Given the description of an element on the screen output the (x, y) to click on. 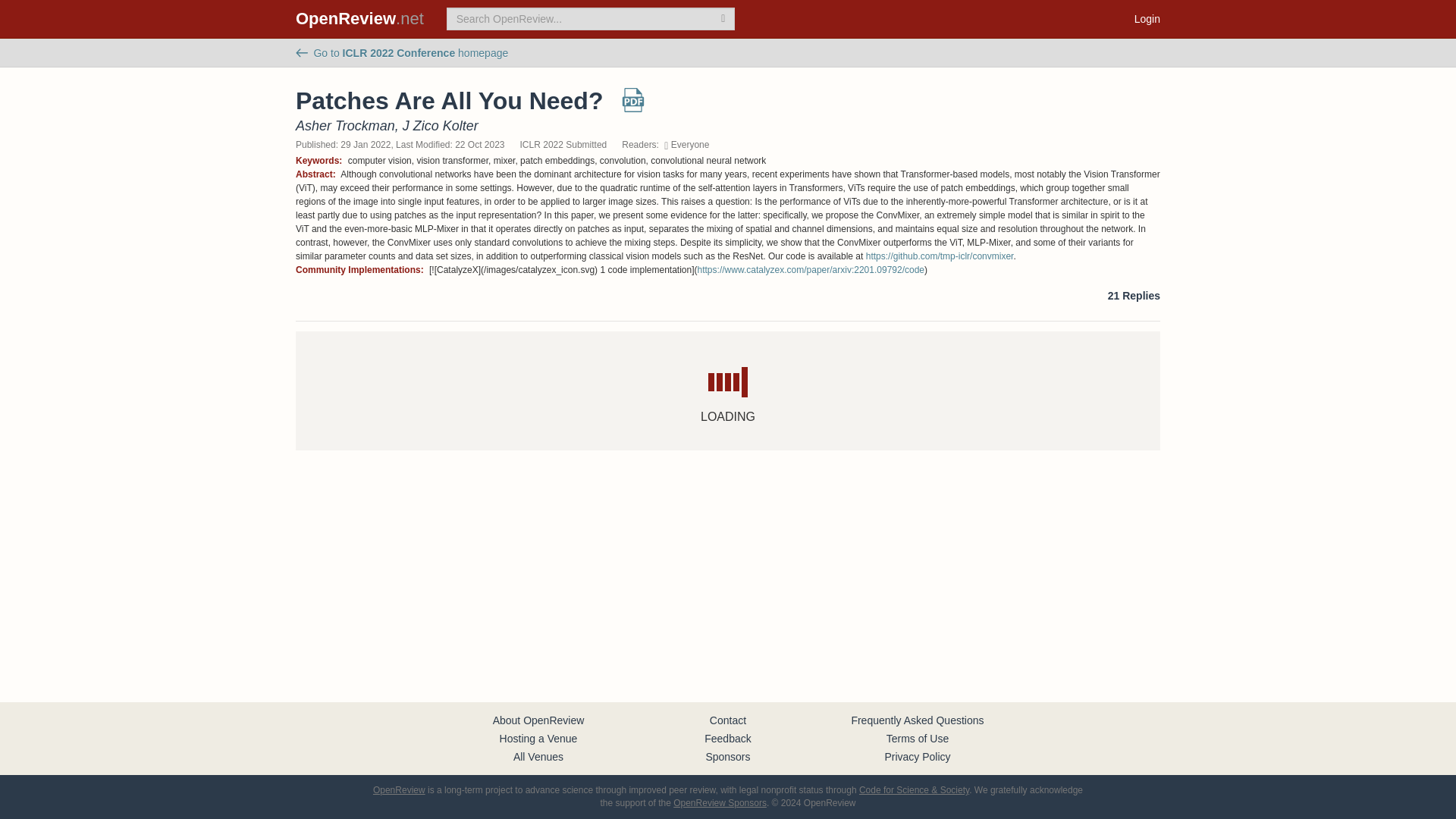
About OpenReview (539, 720)
Venue Homepage (401, 52)
Sponsors (726, 756)
Asher Trockman (344, 125)
All Venues (538, 756)
Go to ICLR 2022 Conference homepage (401, 52)
Contact (727, 720)
Feedback (727, 738)
OpenReview (398, 789)
Login (1147, 18)
OpenReview Sponsors (719, 802)
OpenReview.net (359, 18)
J Zico Kolter (441, 125)
Hosting a Venue (538, 738)
Terms of Use (917, 738)
